Given the description of an element on the screen output the (x, y) to click on. 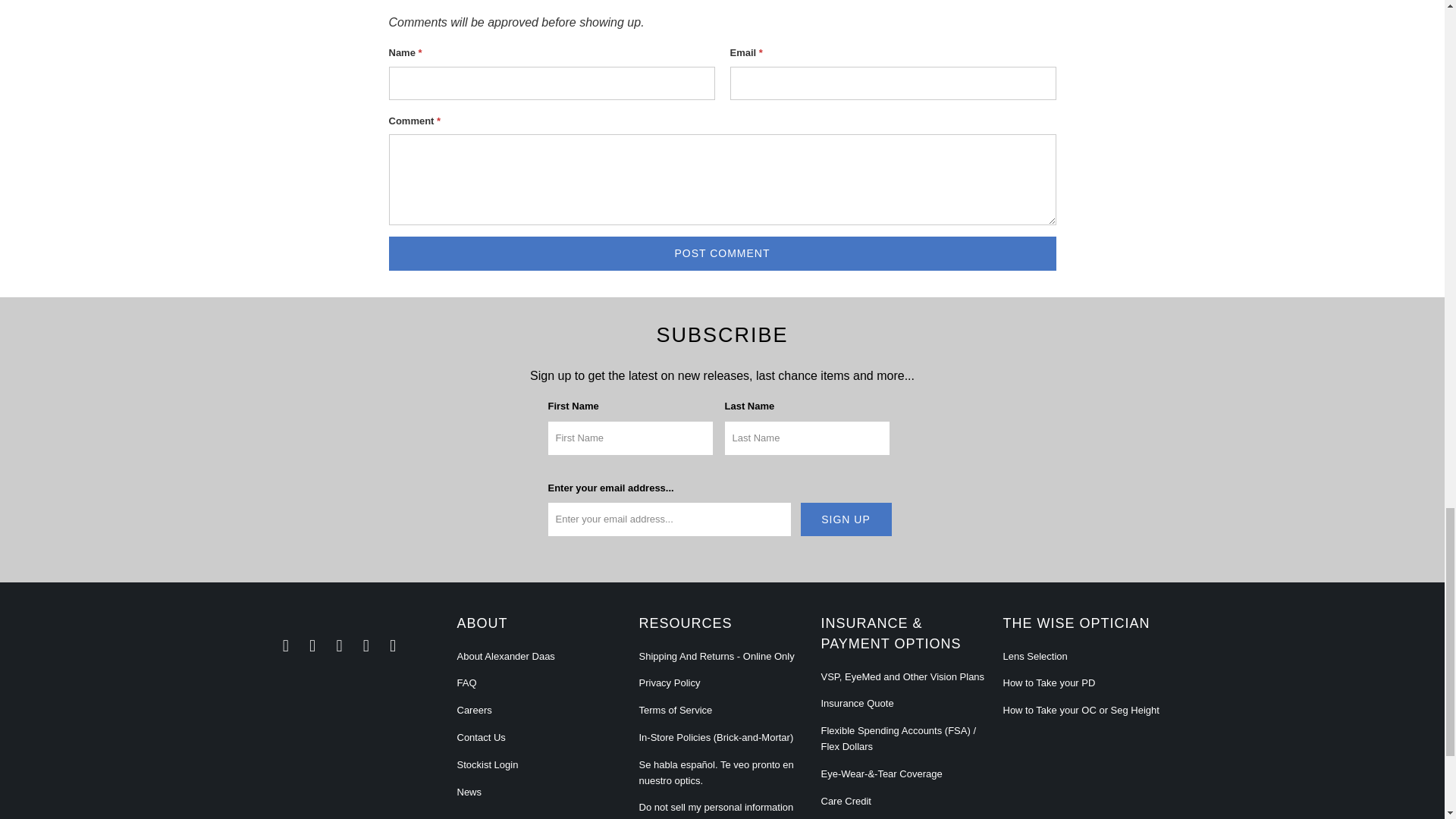
Post comment (721, 253)
Sign Up (845, 519)
